Given the description of an element on the screen output the (x, y) to click on. 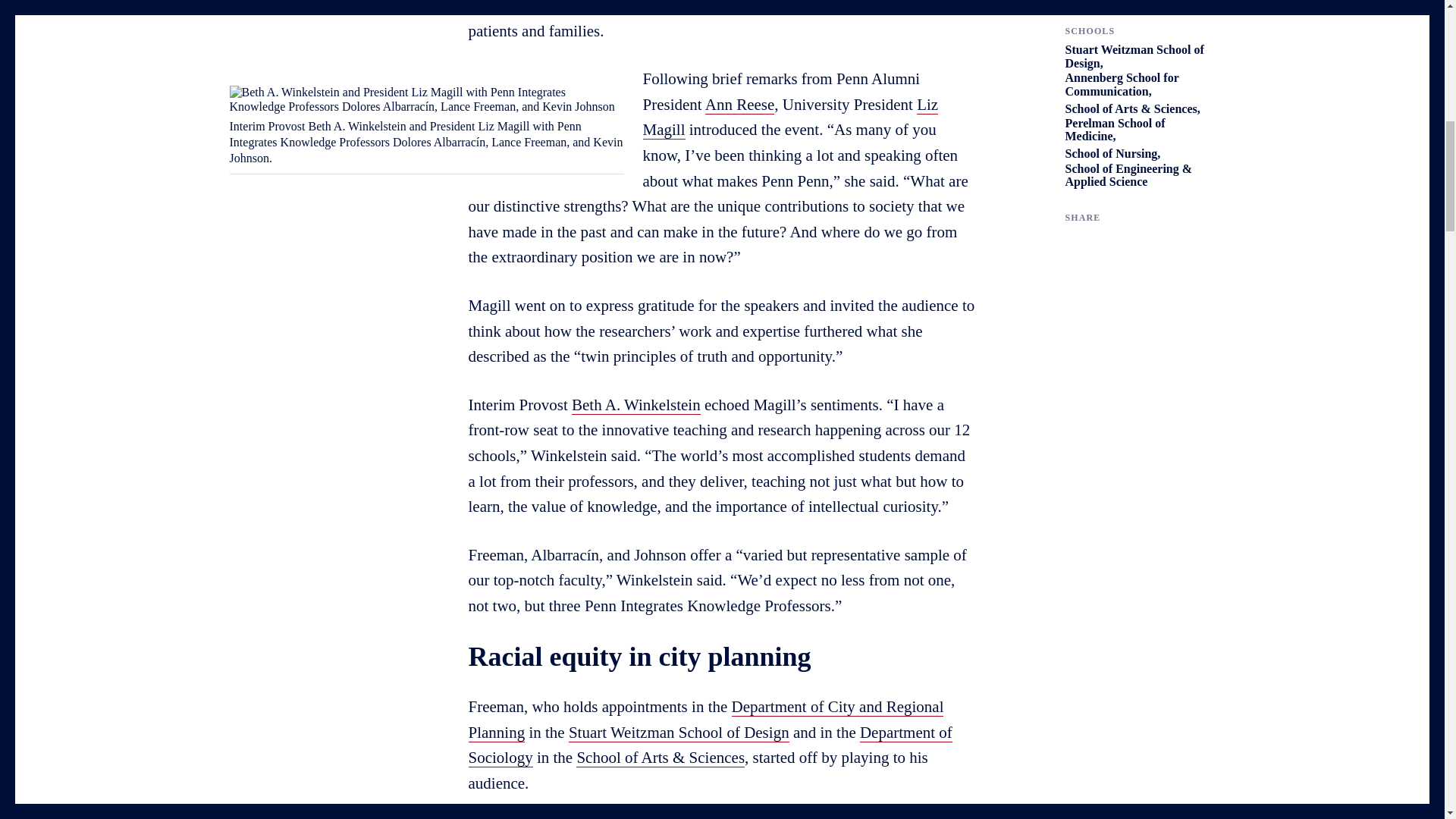
Share - Facebook (1101, 243)
Share - LinkedIn (1131, 243)
Share - Twitter (1070, 243)
